Given the description of an element on the screen output the (x, y) to click on. 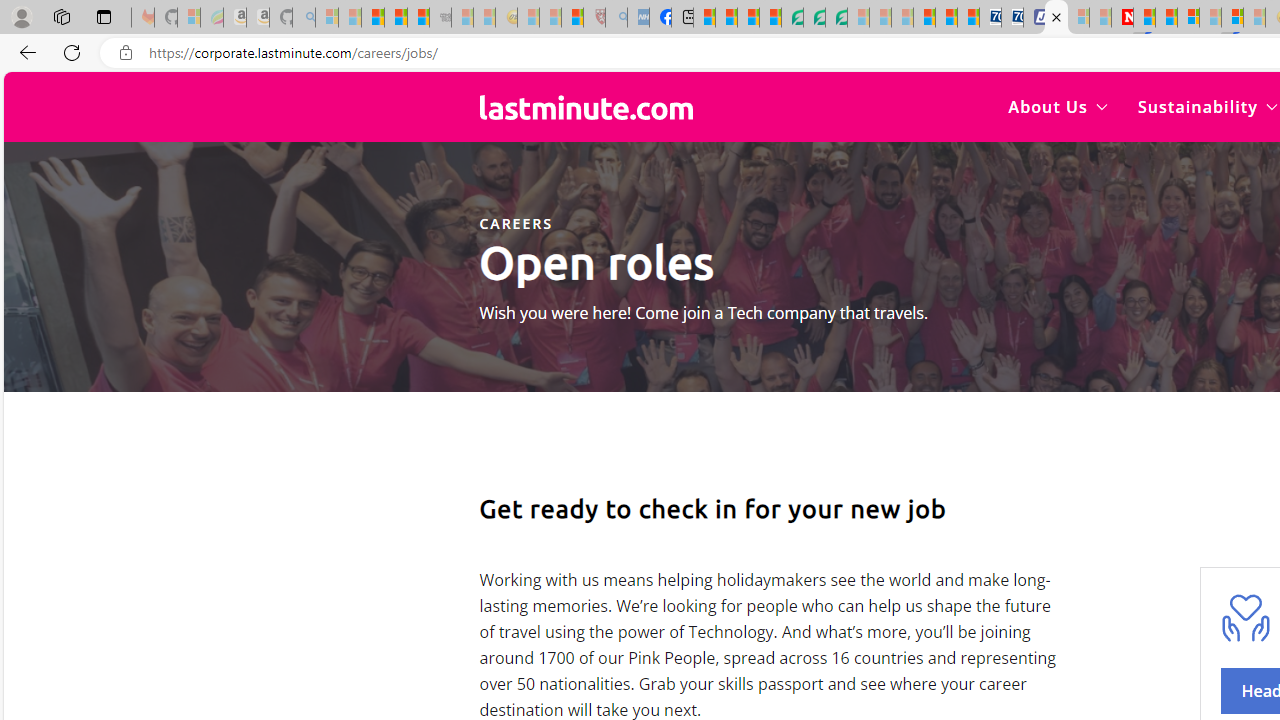
The Weather Channel - MSN (372, 17)
14 Common Myths Debunked By Scientific Facts (1166, 17)
CAREERS (515, 223)
Tab actions menu (104, 16)
Trusted Community Engagement and Contributions | Guidelines (1144, 17)
NCL Adult Asthma Inhaler Choice Guideline - Sleeping (638, 17)
Cheap Car Rentals - Save70.com (990, 17)
